Given the description of an element on the screen output the (x, y) to click on. 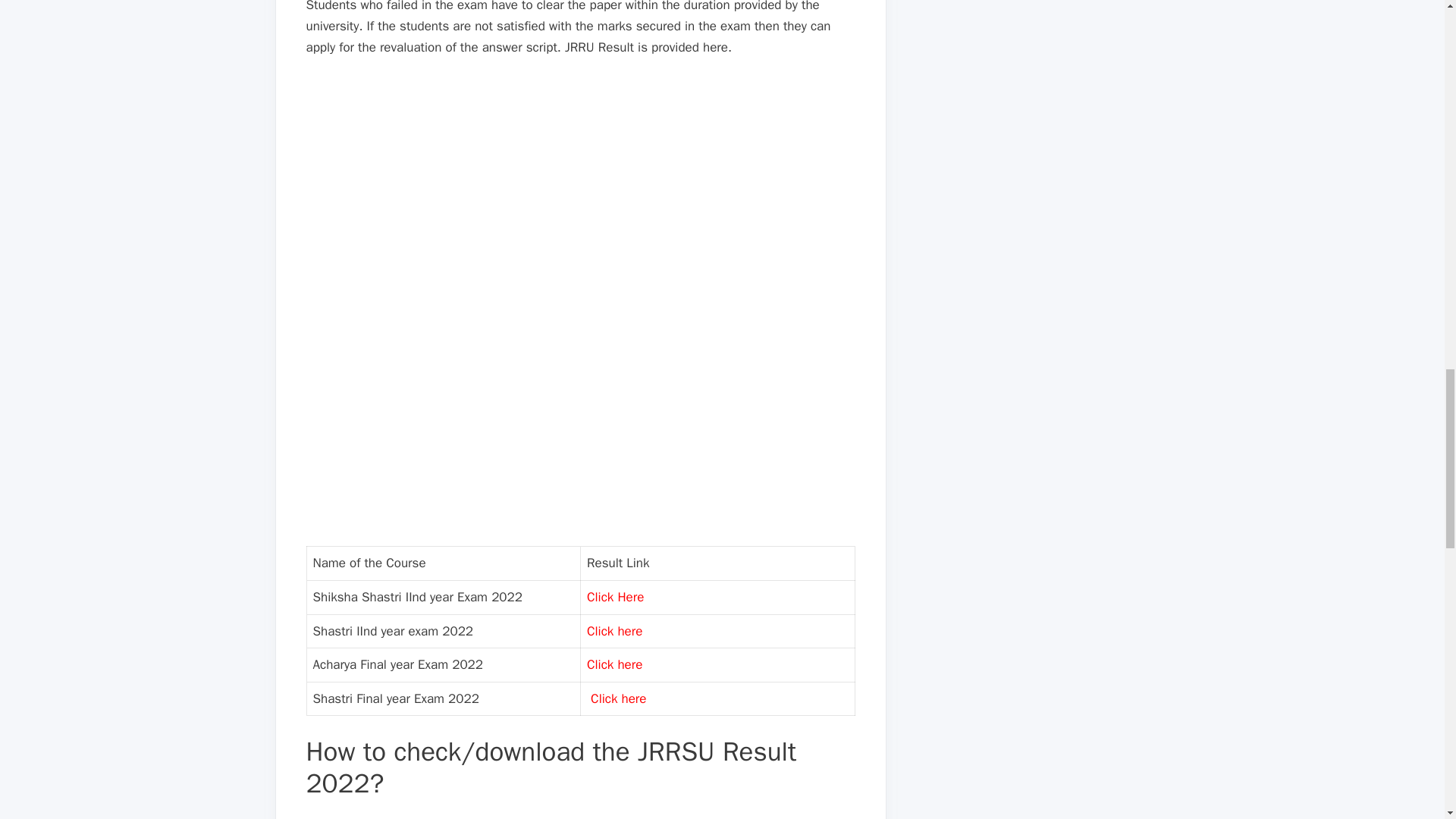
Click here (614, 631)
Click Here (614, 596)
Click here (618, 698)
Click here (614, 664)
